Given the description of an element on the screen output the (x, y) to click on. 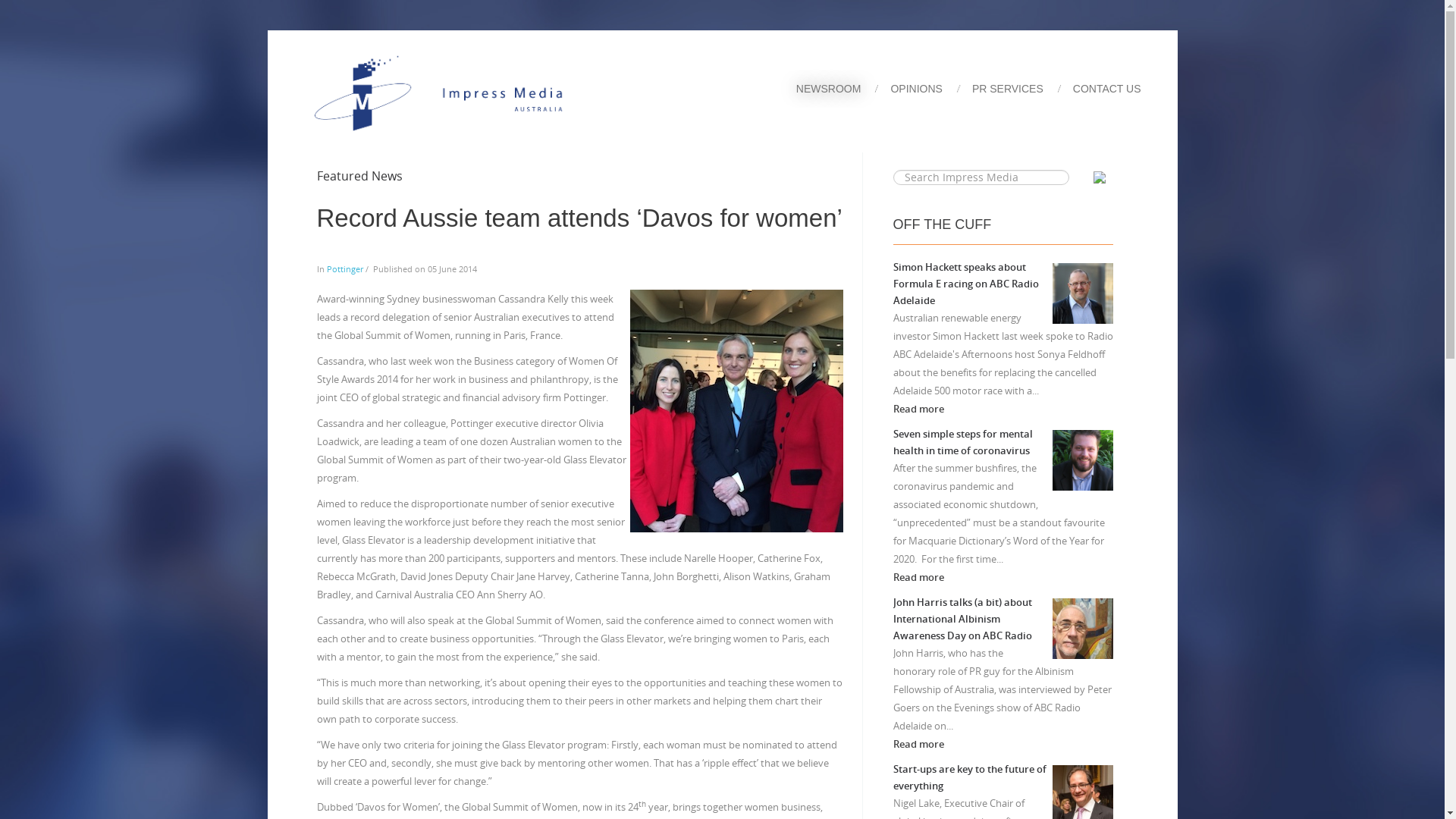
Start-ups are key to the future of everything Element type: text (969, 777)
OPINIONS Element type: text (926, 88)
Read more Element type: text (918, 576)
CONTACT US Element type: text (1108, 88)
NEWSROOM Element type: text (839, 88)
Pottinger Element type: text (344, 268)
Read more Element type: text (918, 743)
Read more Element type: text (918, 408)
PR SERVICES Element type: text (1018, 88)
Seven simple steps for mental health in time of coronavirus Element type: text (962, 441)
